Given the description of an element on the screen output the (x, y) to click on. 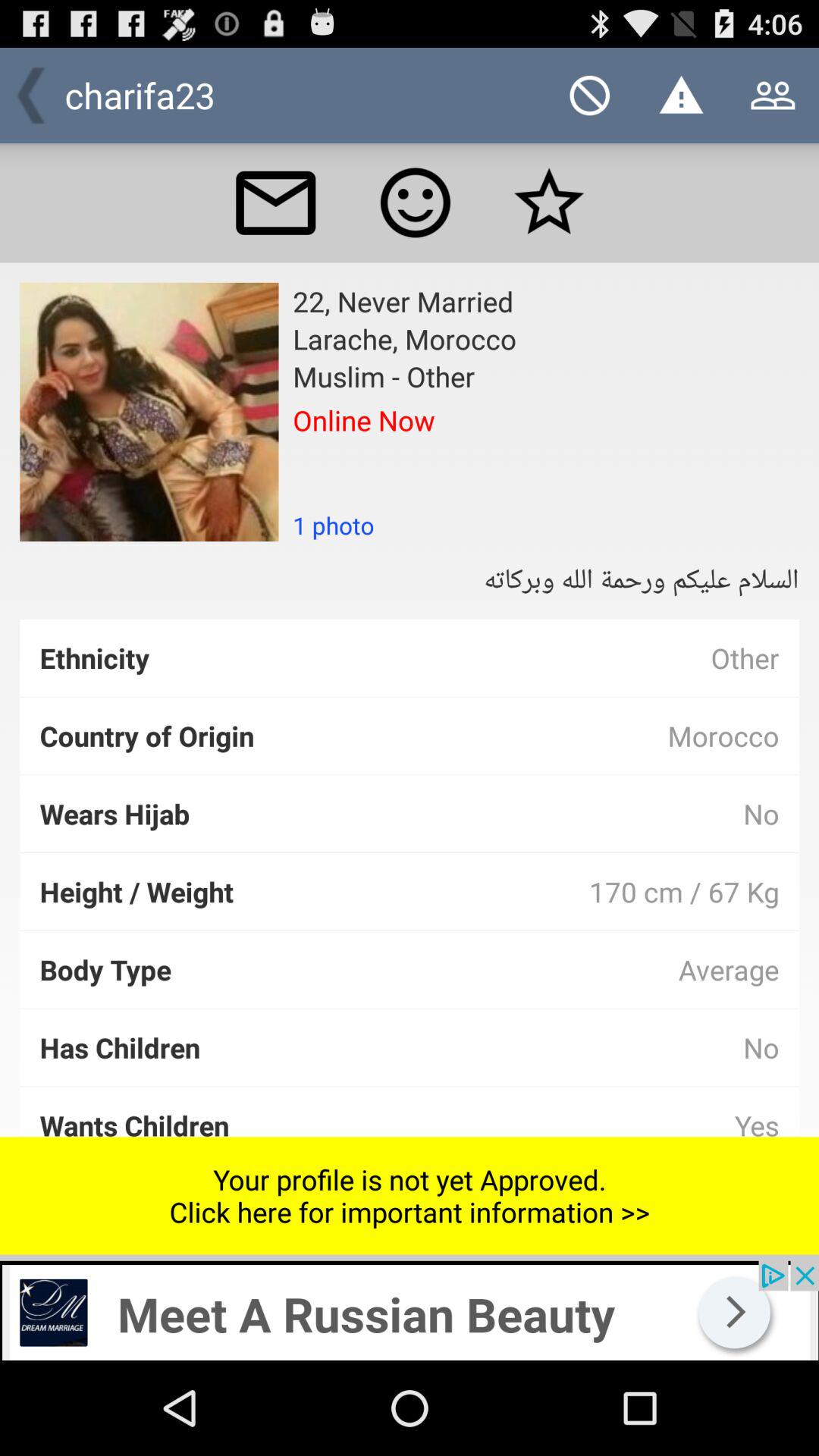
check mail (275, 202)
